Given the description of an element on the screen output the (x, y) to click on. 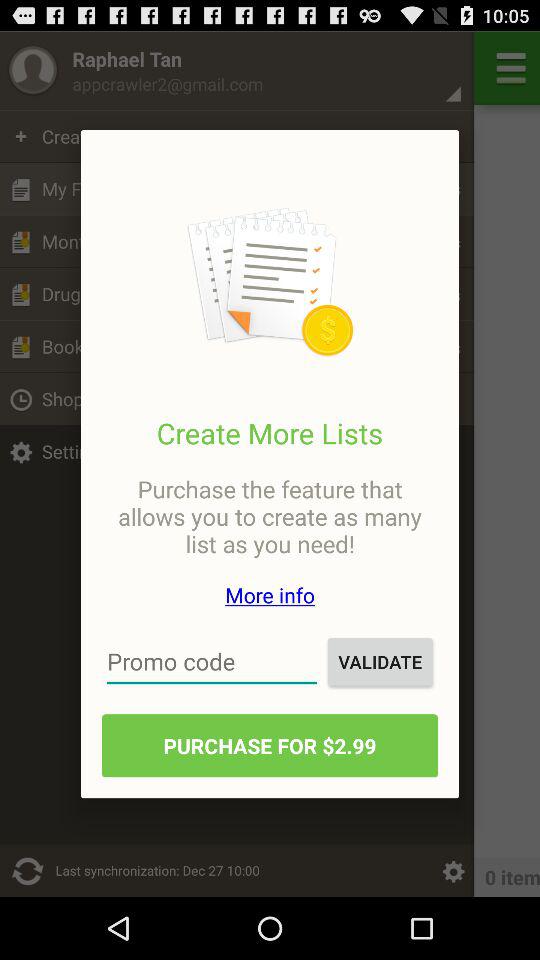
select the validate at the bottom right corner (379, 661)
